Given the description of an element on the screen output the (x, y) to click on. 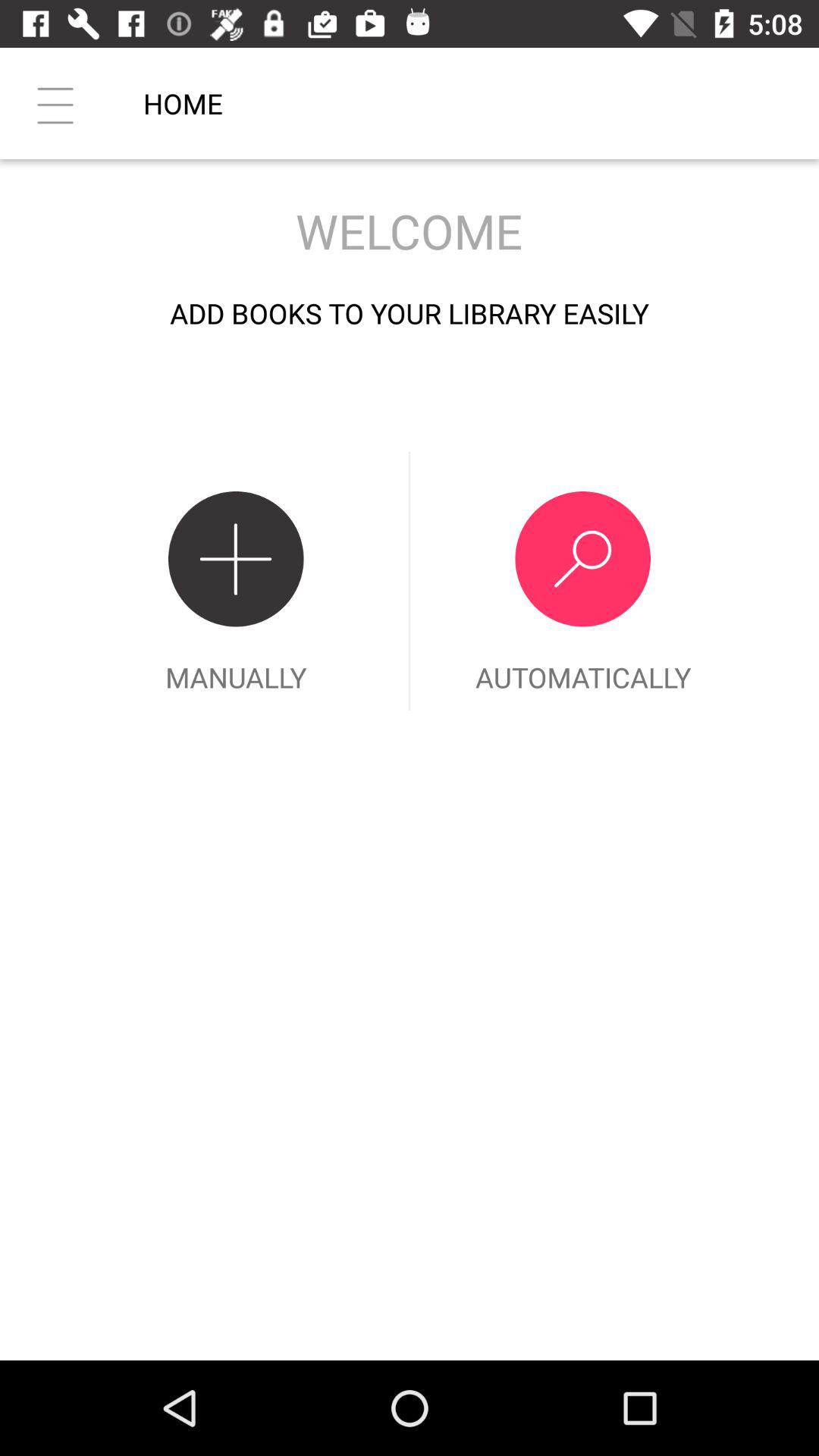
open the item below add books to (582, 580)
